Given the description of an element on the screen output the (x, y) to click on. 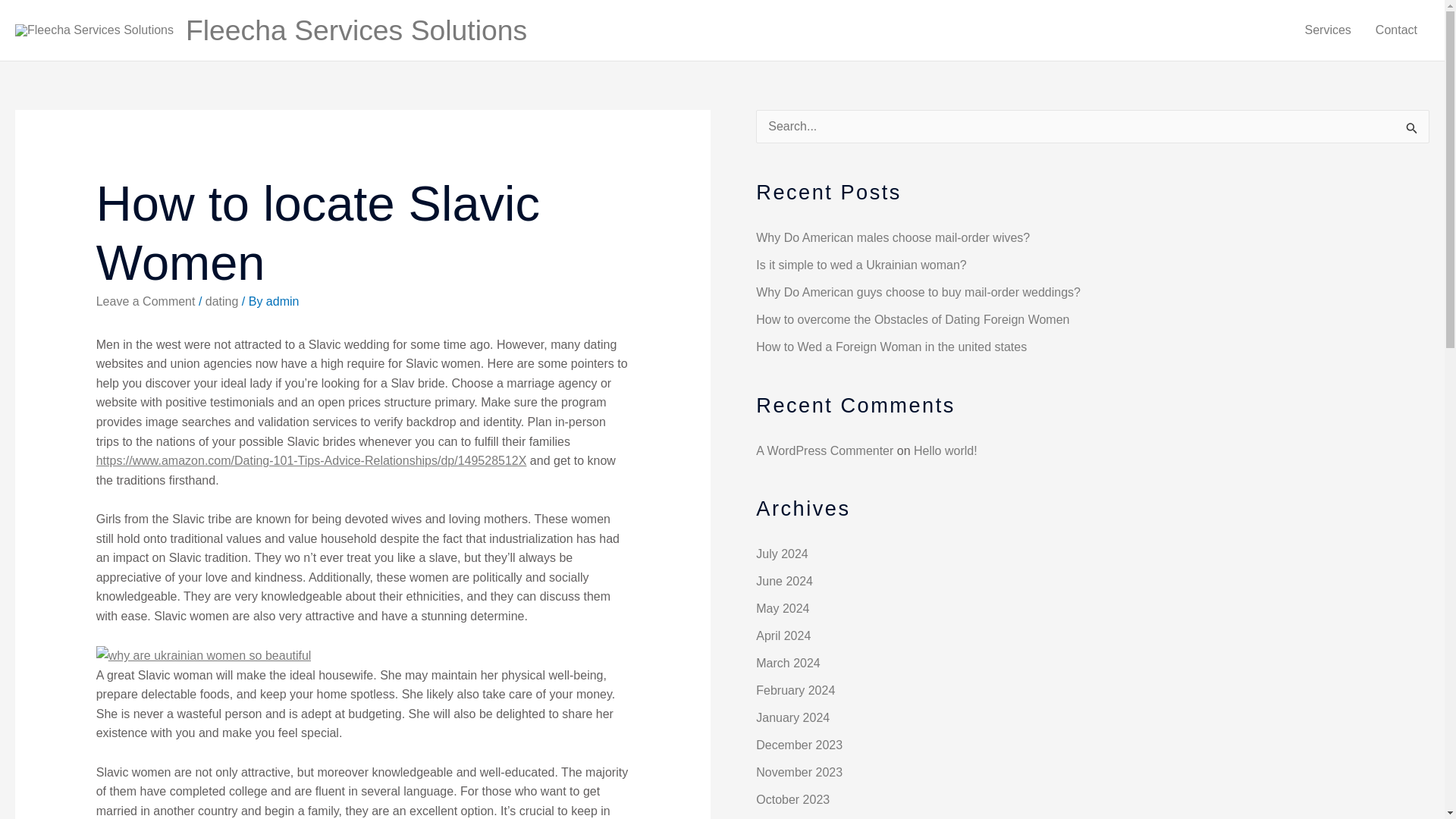
Why Do American guys choose to buy mail-order weddings? (917, 291)
Contact (1395, 30)
Why Do American males choose mail-order wives? (892, 237)
Search (1411, 130)
How to overcome the Obstacles of Dating Foreign Women (911, 318)
Hello world! (945, 450)
Search (1411, 130)
June 2024 (783, 581)
Fleecha Services Solutions (356, 29)
admin (282, 300)
January 2024 (792, 717)
Search (1411, 130)
dating (221, 300)
April 2024 (782, 635)
How to Wed a Foreign Woman in the united states (890, 346)
